Given the description of an element on the screen output the (x, y) to click on. 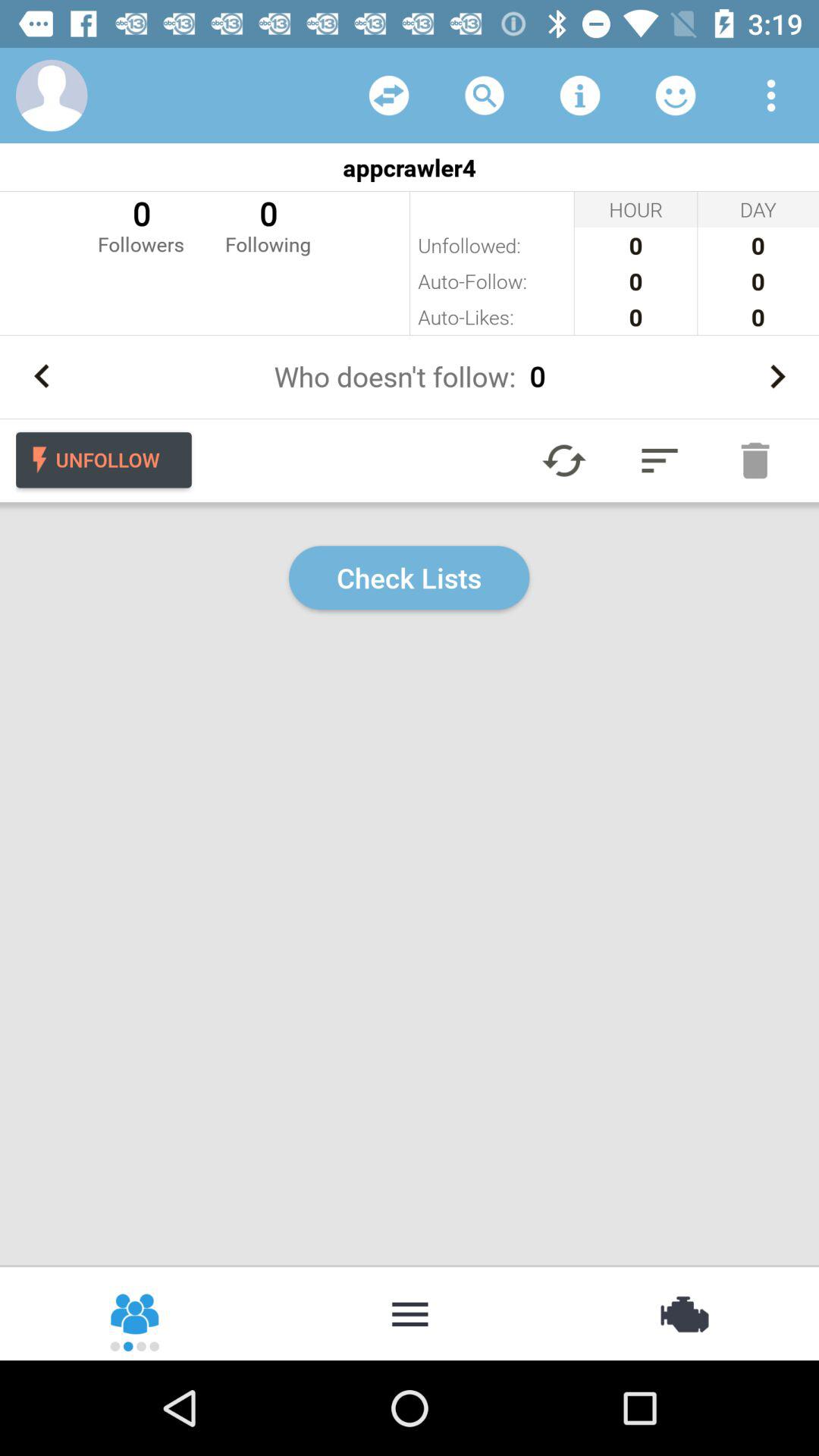
see lists (659, 460)
